Given the description of an element on the screen output the (x, y) to click on. 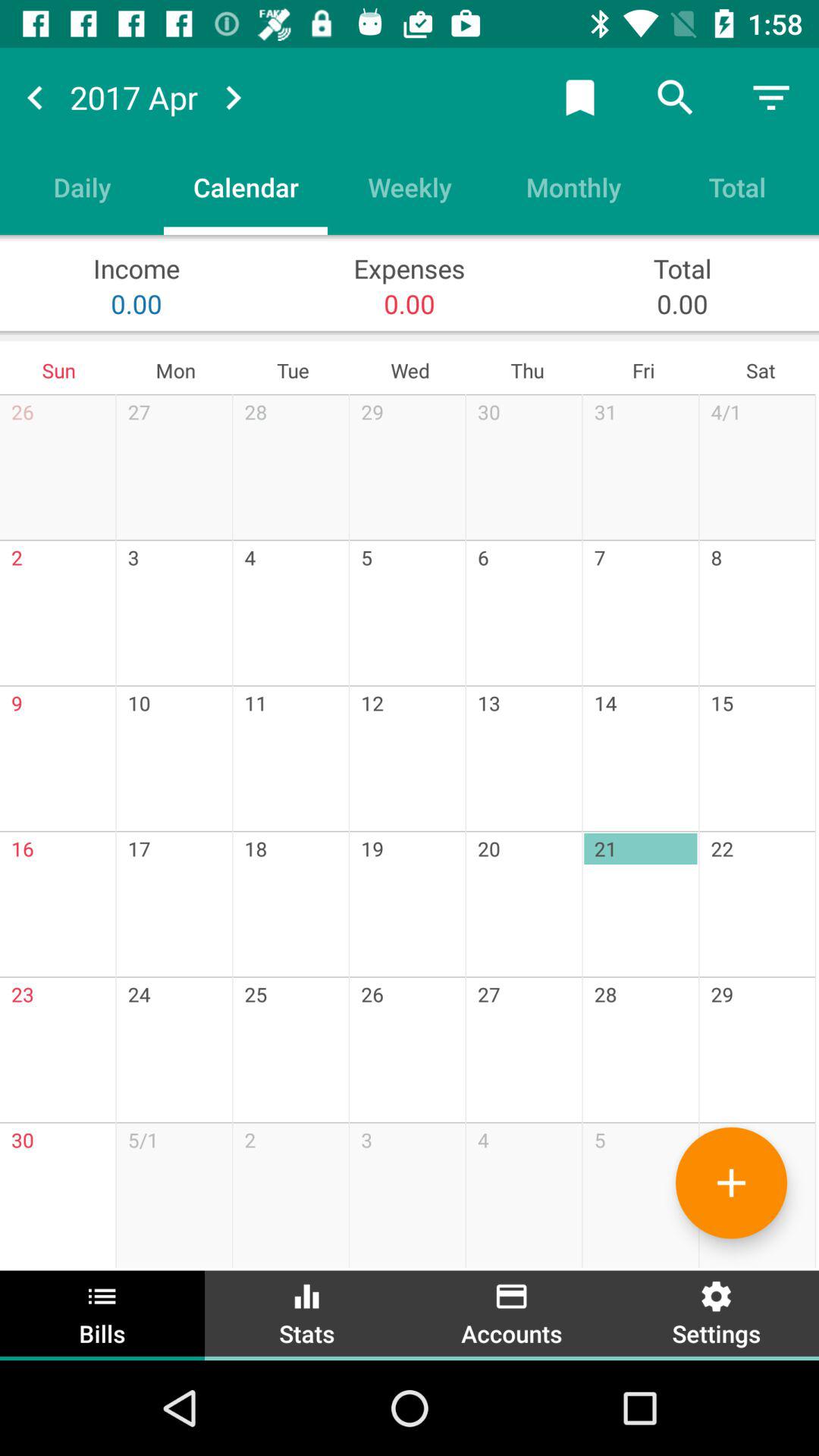
turn off icon to the left of the weekly item (245, 186)
